Given the description of an element on the screen output the (x, y) to click on. 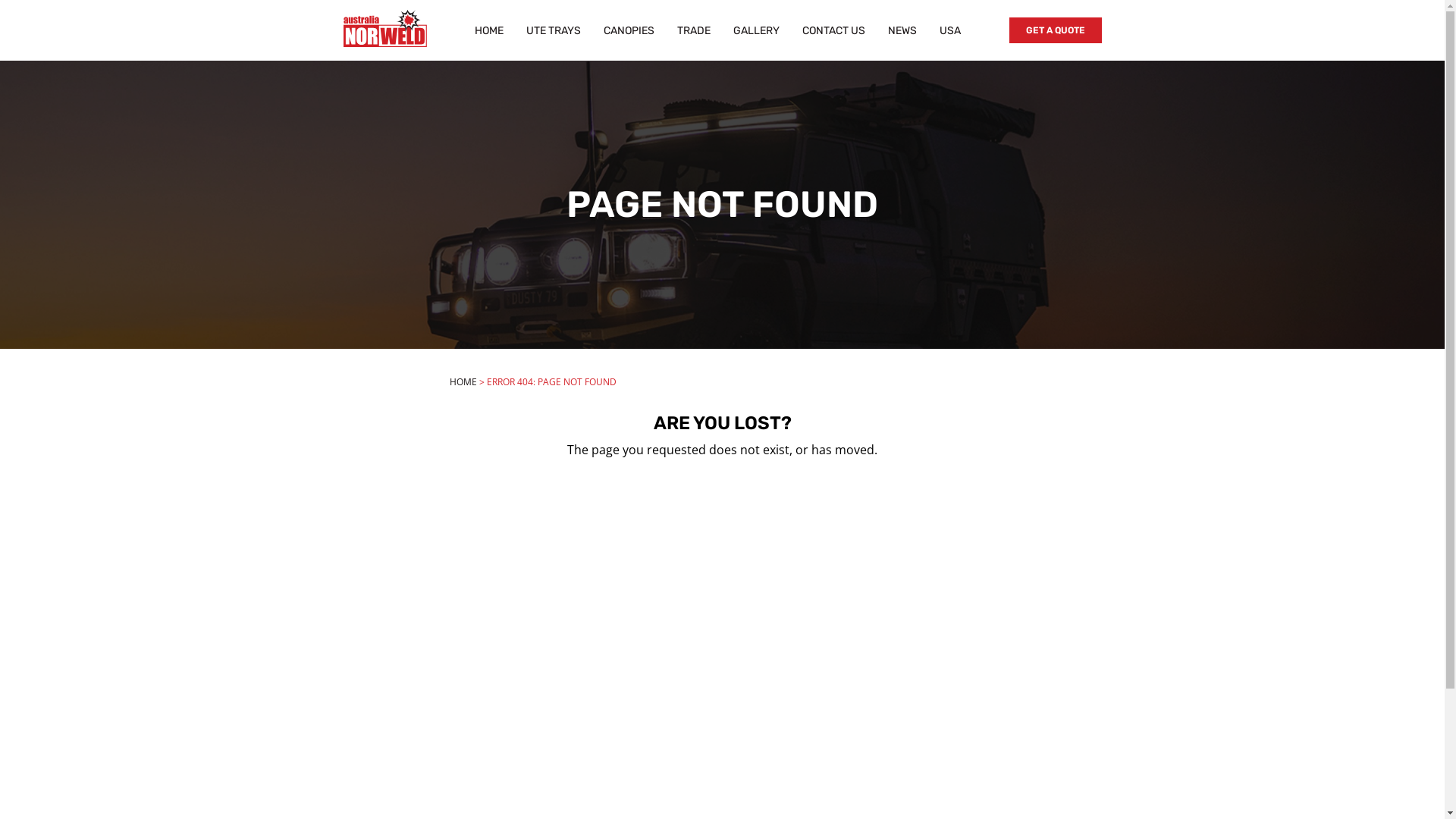
TRADE Element type: text (693, 30)
CANOPIES Element type: text (628, 30)
HOME Element type: text (462, 381)
HOME Element type: text (488, 30)
GET A QUOTE Element type: text (1054, 30)
GALLERY Element type: text (756, 30)
NEWS Element type: text (902, 30)
CONTACT US Element type: text (833, 30)
USA Element type: text (949, 30)
UTE TRAYS Element type: text (553, 30)
